Given the description of an element on the screen output the (x, y) to click on. 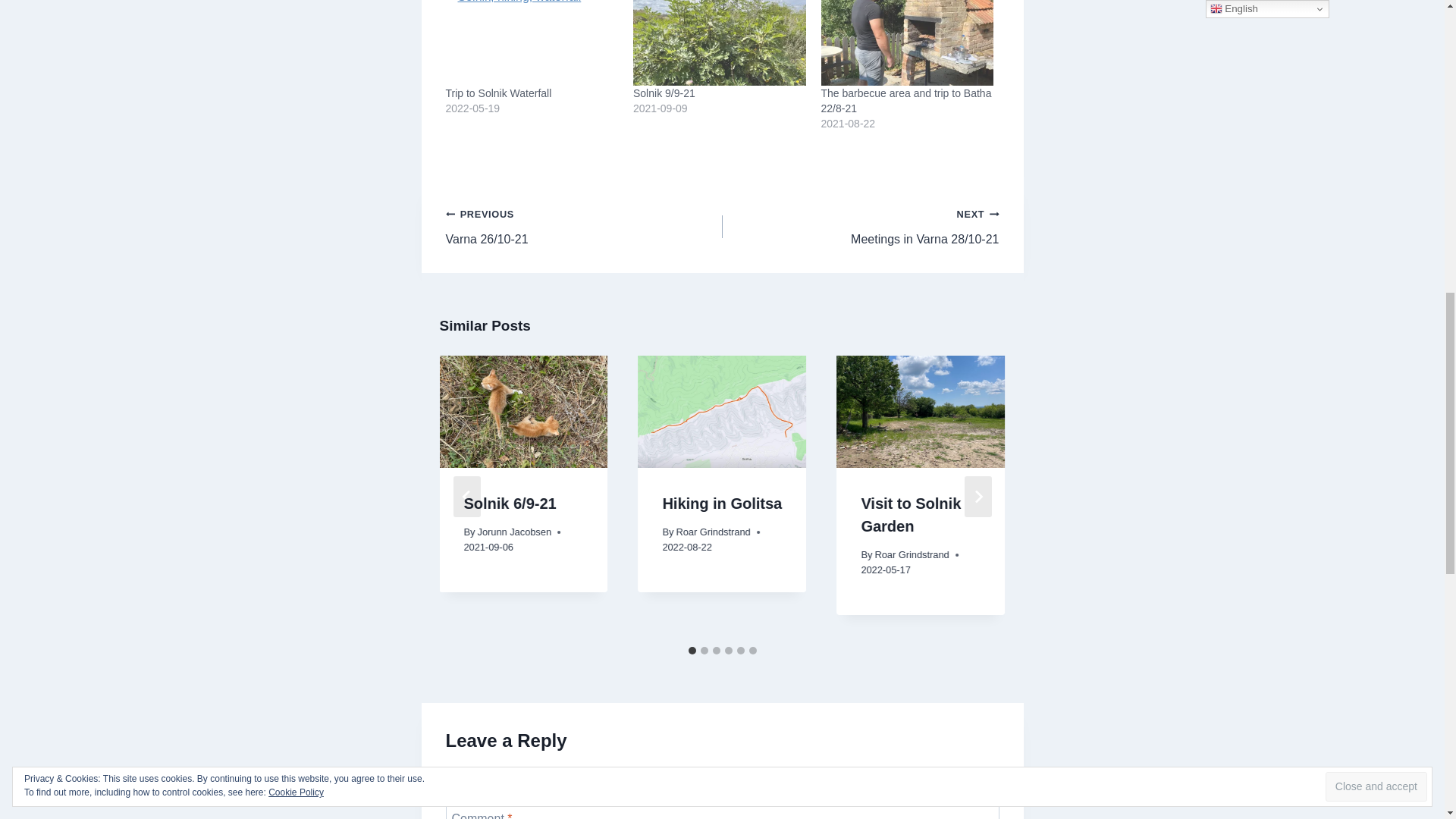
Trip to Solnik Waterfall (531, 42)
Trip to Solnik Waterfall (498, 92)
